Given the description of an element on the screen output the (x, y) to click on. 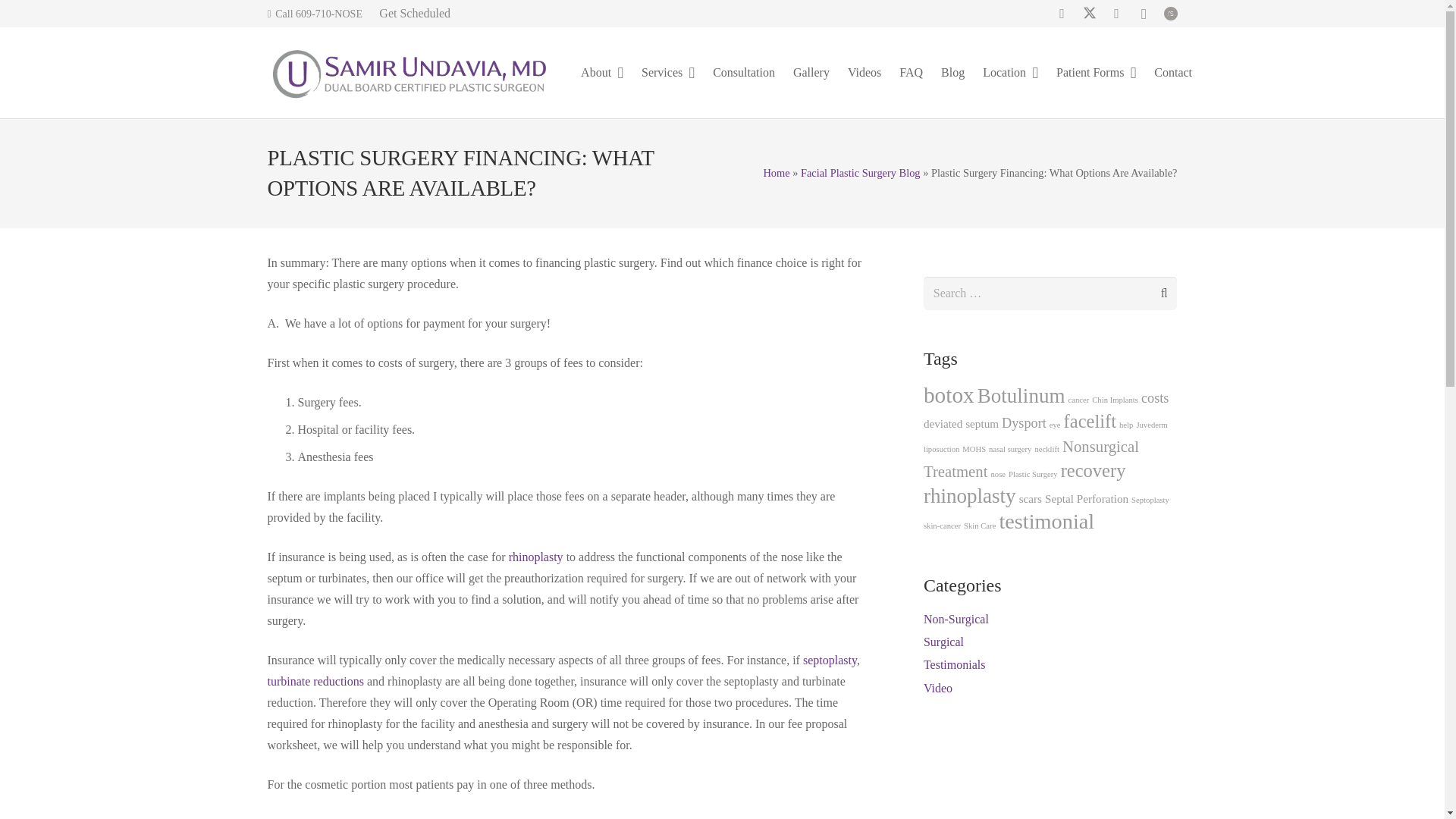
Instagram (1144, 13)
Twitter (1089, 13)
Google (1117, 13)
Facebook (1061, 13)
